Given the description of an element on the screen output the (x, y) to click on. 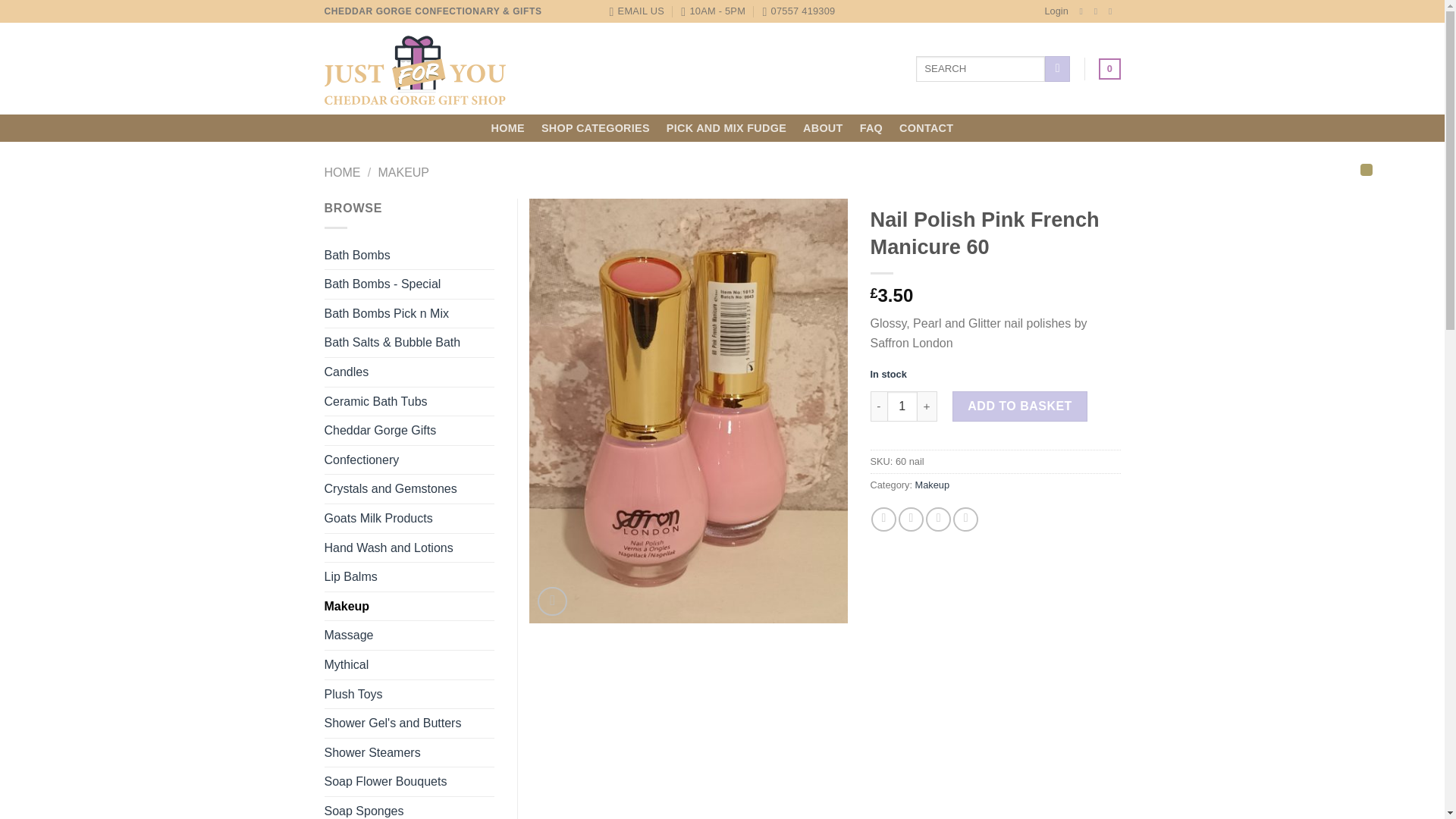
ADD TO BASKET (1019, 406)
PICK AND MIX FUDGE (726, 127)
HOME (342, 172)
Bath Bombs Pick n Mix (409, 313)
SHOP CATEGORIES (595, 127)
CONTACT (926, 127)
1 (901, 406)
EMAIL US (636, 11)
Login (1055, 11)
07557 419309 (797, 11)
HOME (508, 127)
Just For You Cheddar - No.1 For Novelty Gifts (414, 68)
Bath Bombs - Special (409, 284)
MAKEUP (403, 172)
10AM - 5PM  (713, 11)
